Given the description of an element on the screen output the (x, y) to click on. 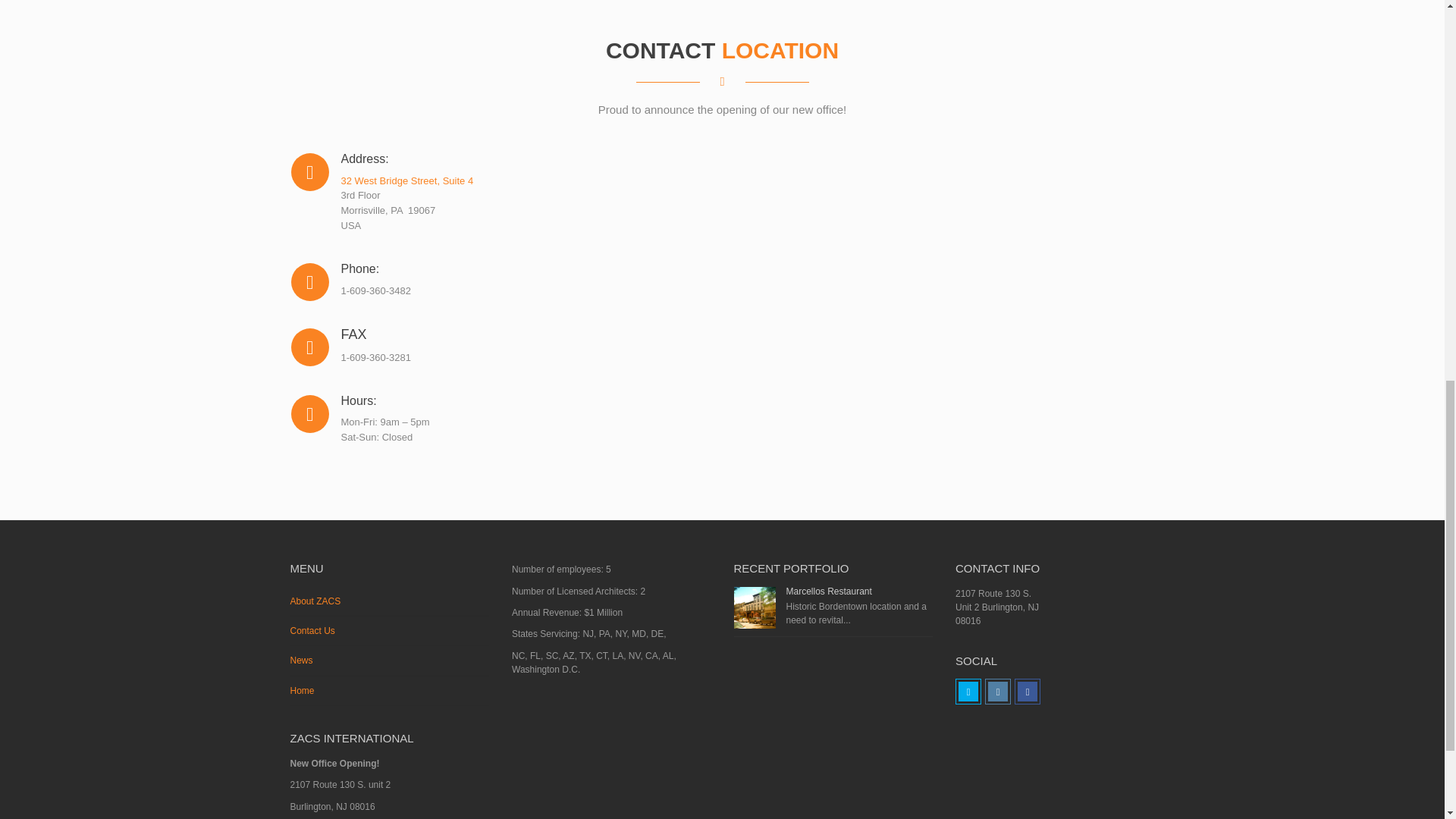
32 West Bridge Street, Suite 4 (407, 179)
Contact Us (389, 631)
News (389, 660)
About ZACS (389, 601)
Home (389, 690)
Marcellos Restaurant (828, 591)
